Given the description of an element on the screen output the (x, y) to click on. 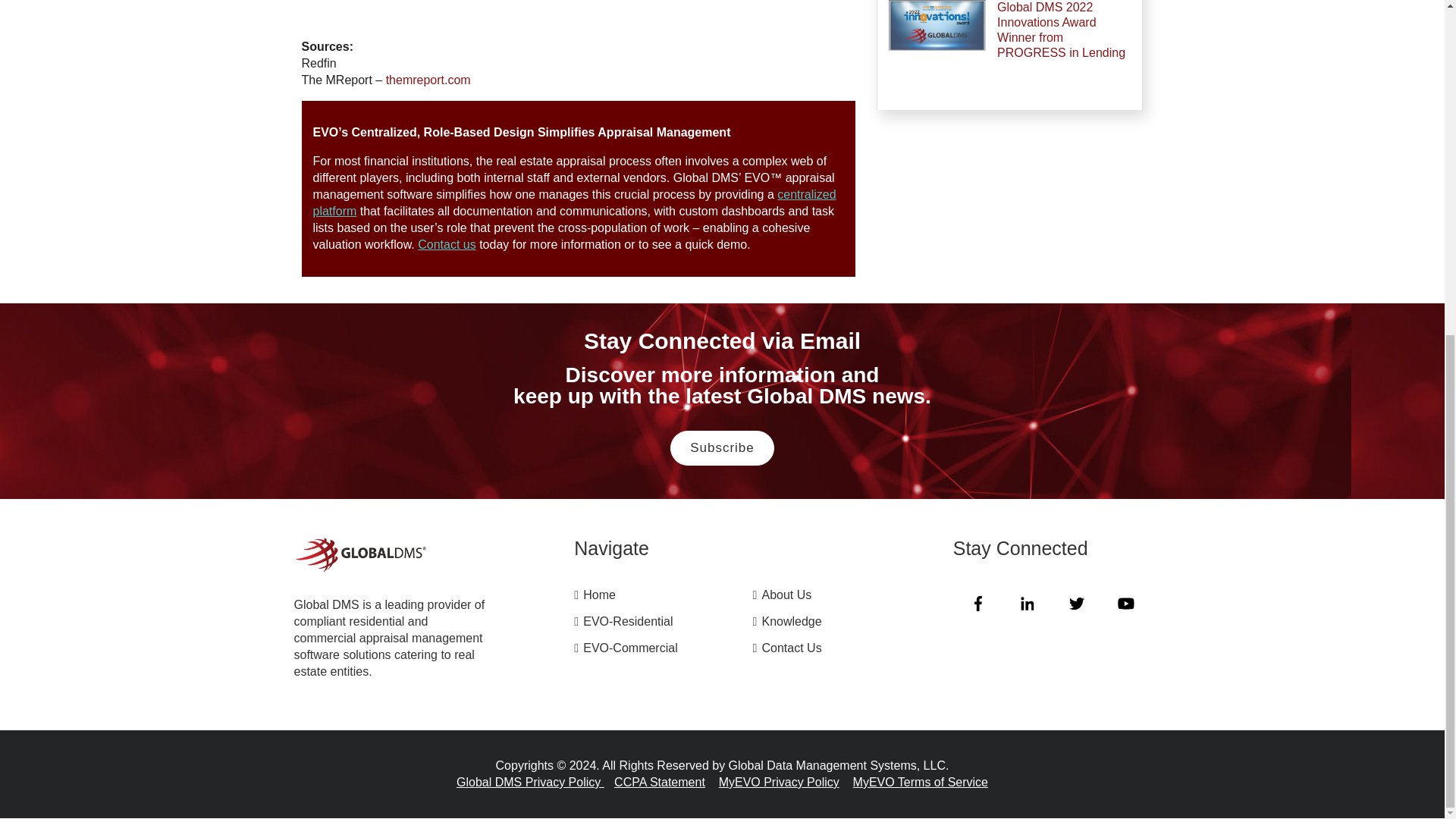
centralized platform (574, 202)
Appraisal Management Software GlobalDMS (360, 560)
Subscribe (721, 448)
themreport.com (427, 79)
Subscribe (721, 448)
Contact us (446, 244)
